Given the description of an element on the screen output the (x, y) to click on. 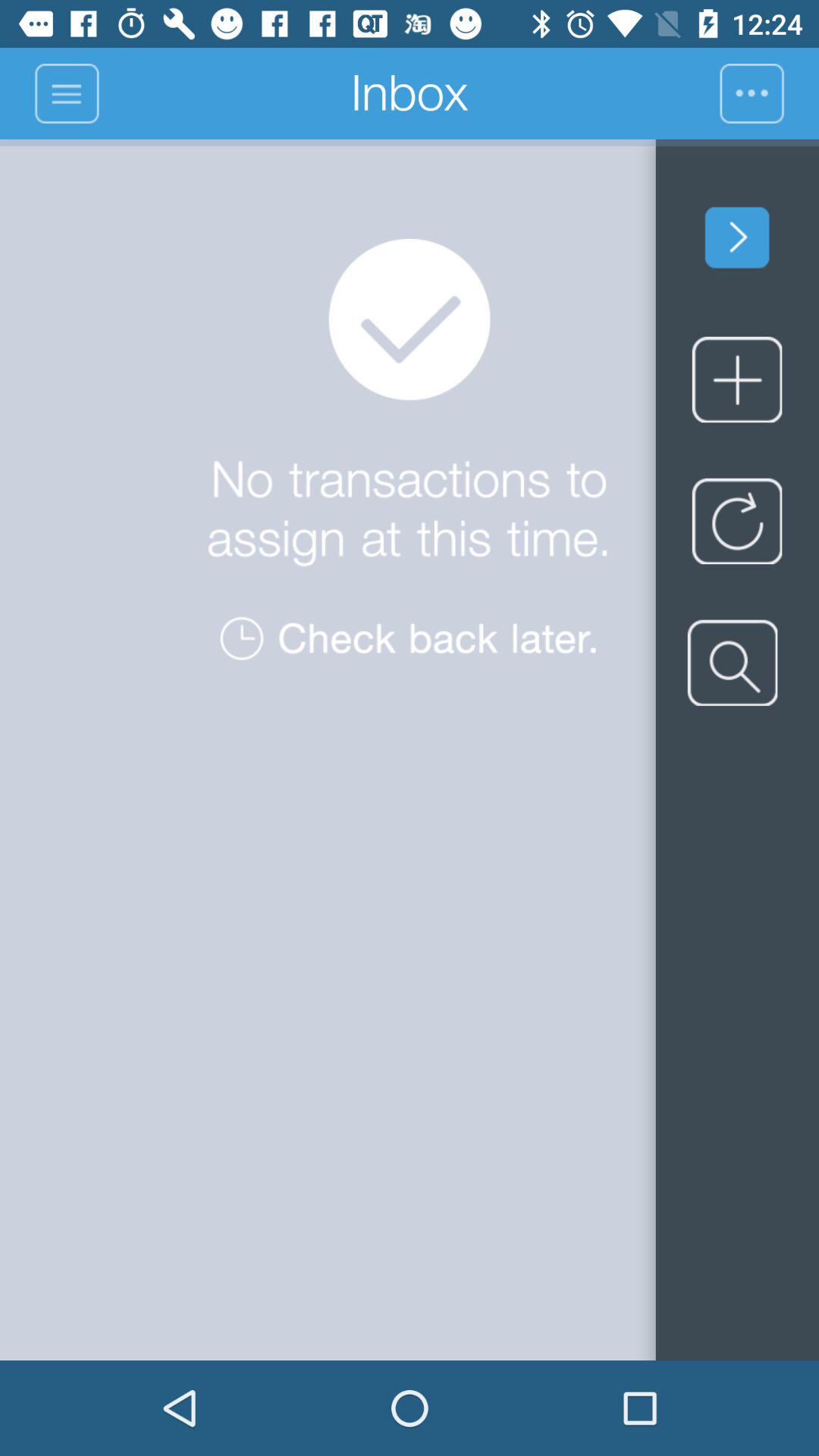
turn on item to the left of inbox icon (66, 93)
